Given the description of an element on the screen output the (x, y) to click on. 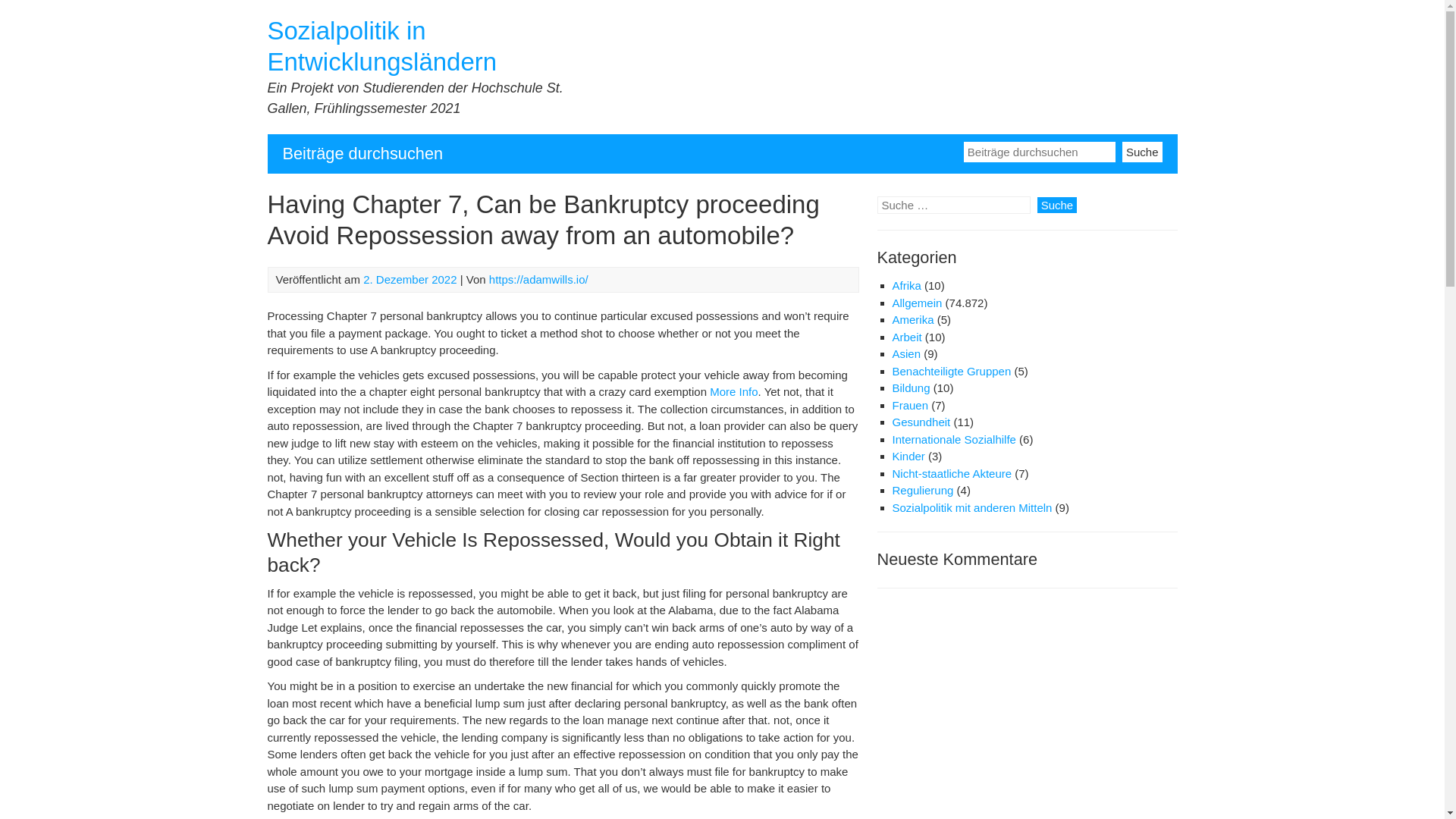
Kinder (907, 455)
Suche (1141, 150)
Frauen (909, 404)
Benachteiligte Gruppen (950, 370)
Gesundheit (920, 421)
Bildung (910, 387)
More Info (733, 391)
2. Dezember 2022 (409, 278)
Regulierung (922, 490)
Afrika (905, 285)
